Given the description of an element on the screen output the (x, y) to click on. 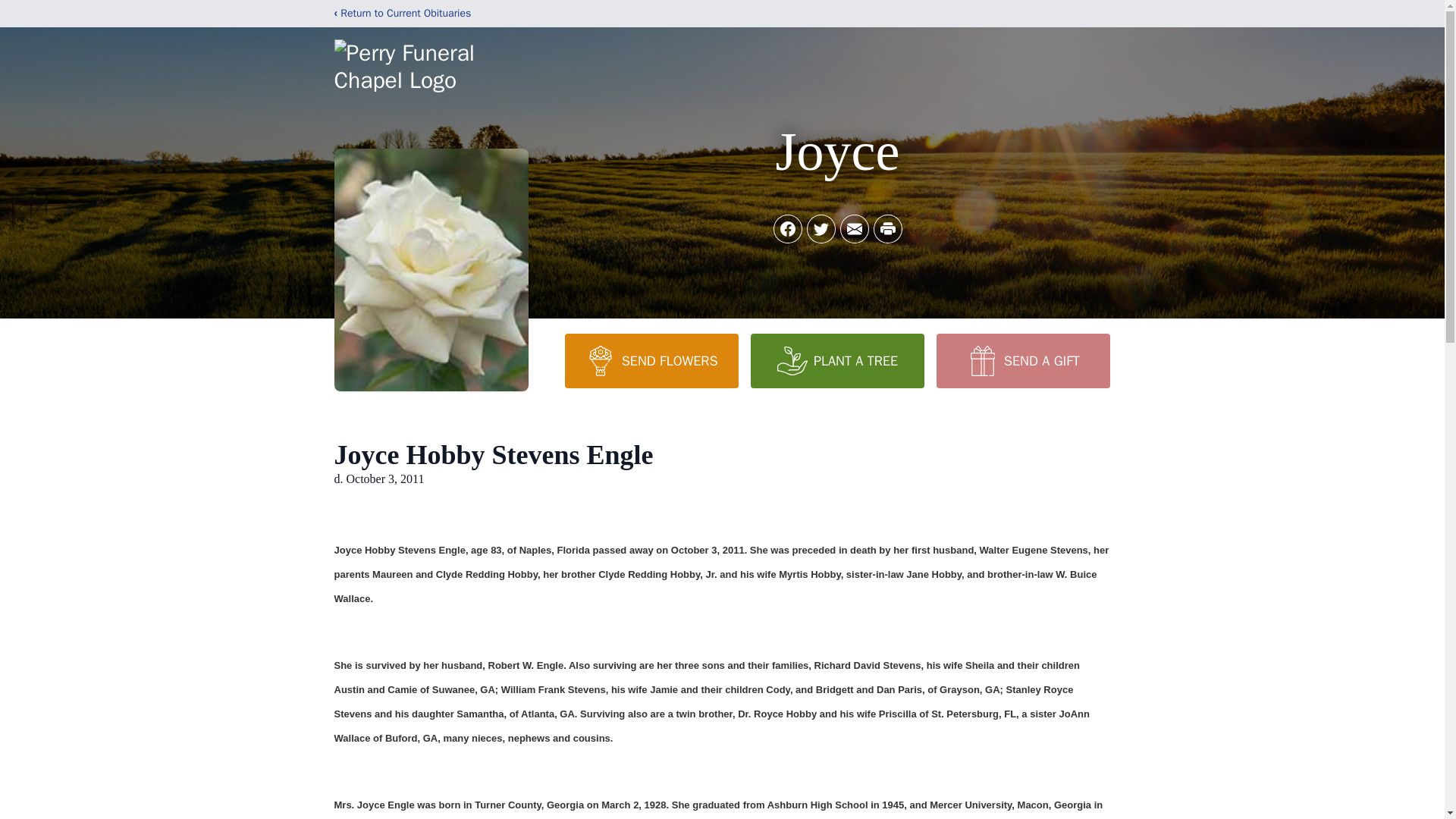
SEND A GIFT (1022, 360)
SEND FLOWERS (651, 360)
PLANT A TREE (837, 360)
